Given the description of an element on the screen output the (x, y) to click on. 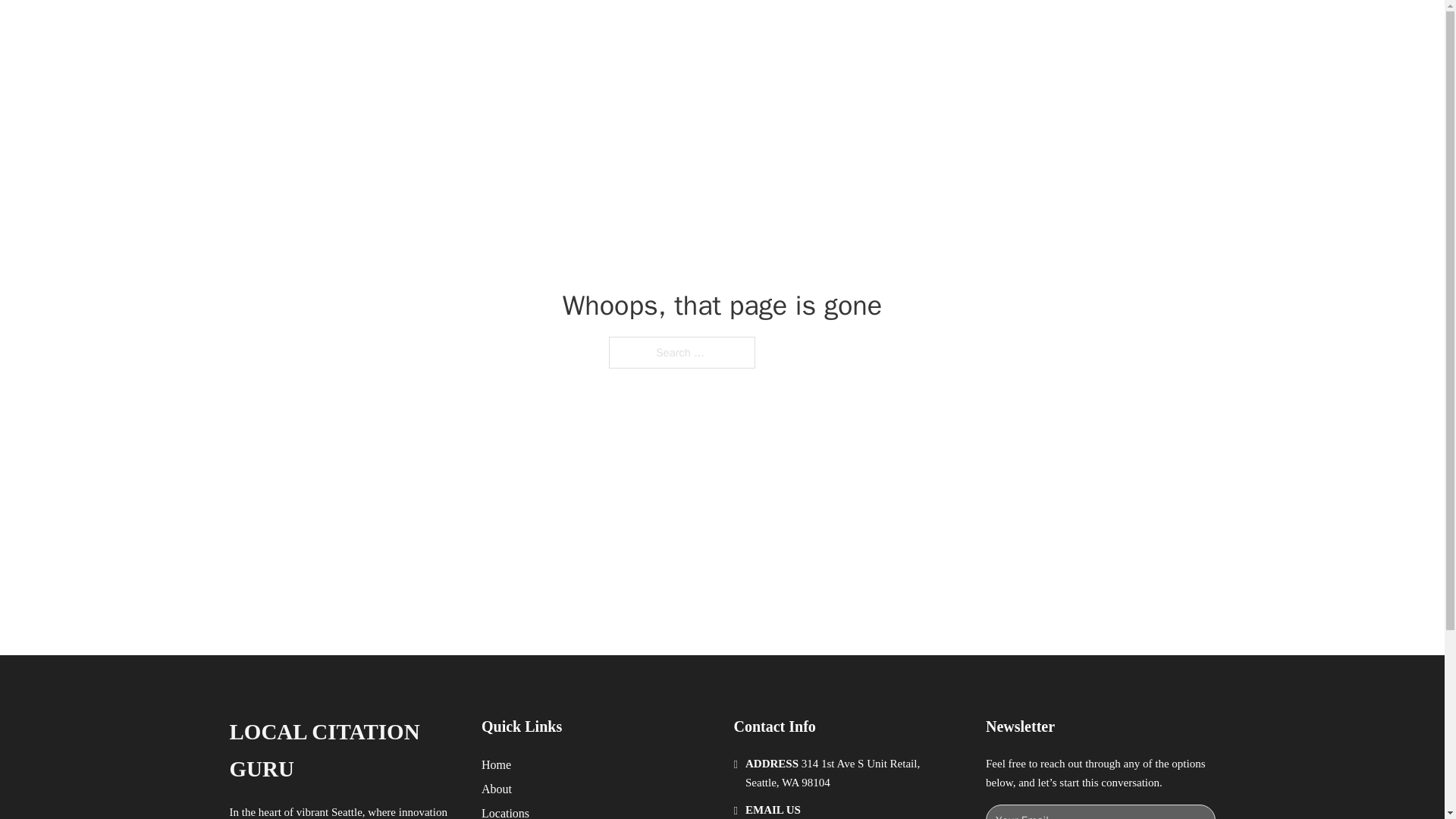
About (496, 788)
Home (496, 764)
Locations (505, 811)
LOCAL CITATION GURU (343, 750)
